Given the description of an element on the screen output the (x, y) to click on. 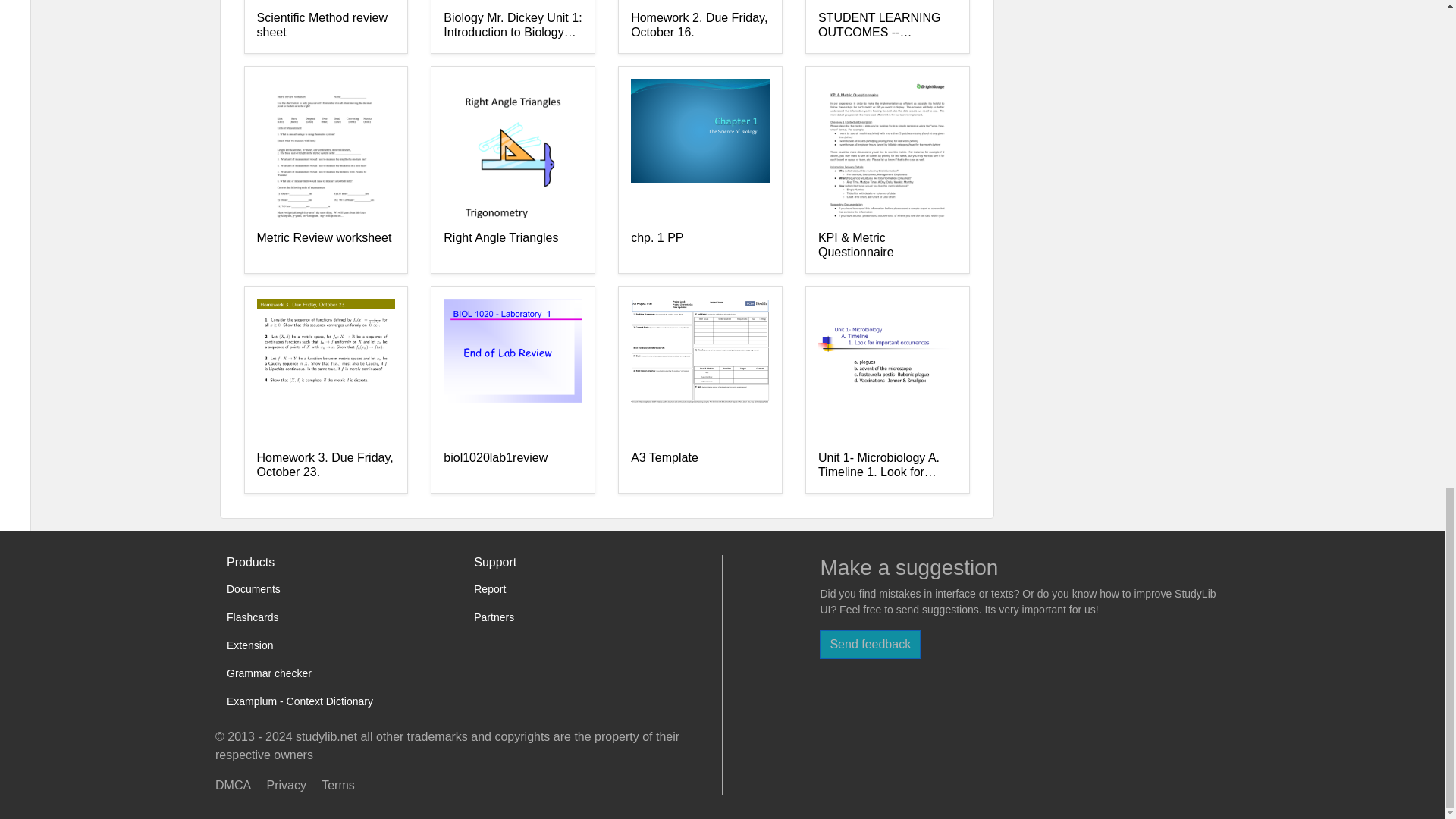
Right Angle Triangles (513, 245)
Homework 3. Due Friday, October 23. (325, 465)
Metric Review worksheet (325, 245)
chp. 1 PP (700, 245)
Homework 2. Due Friday, October 16. (700, 25)
biol1020lab1review (513, 465)
A3 Template (700, 465)
Metric Review worksheet (325, 245)
Homework 2. Due Friday, October 16. (700, 25)
Scientific Method review sheet (325, 25)
Scientific Method review sheet (325, 25)
